Given the description of an element on the screen output the (x, y) to click on. 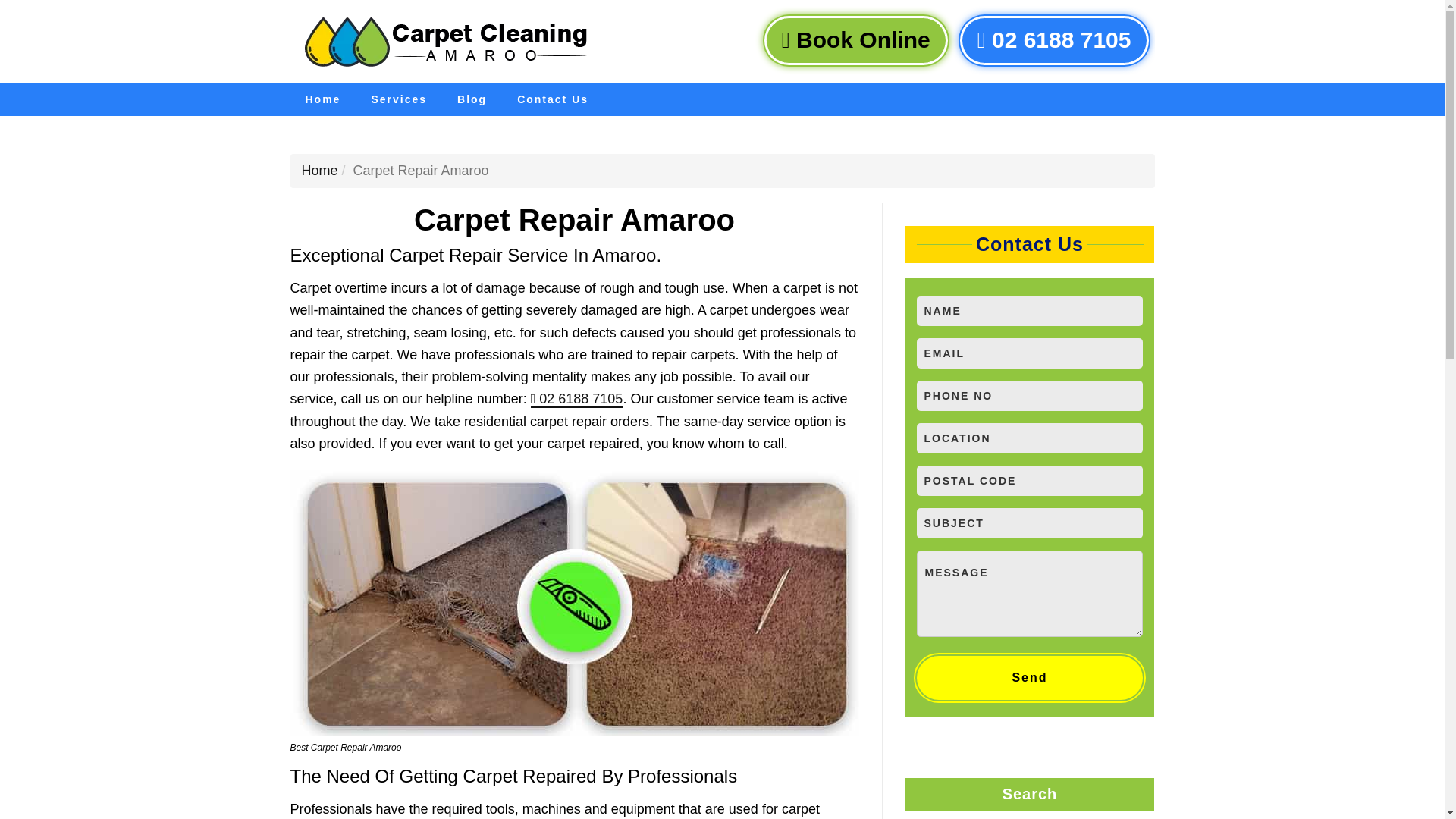
Contact Us (553, 99)
Blog (472, 99)
Home (322, 99)
02 6188 7105 (1053, 40)
Send (1028, 678)
Book Online (855, 40)
Services (398, 99)
02 6188 7105 (577, 399)
Send (1028, 678)
Home (319, 170)
